Given the description of an element on the screen output the (x, y) to click on. 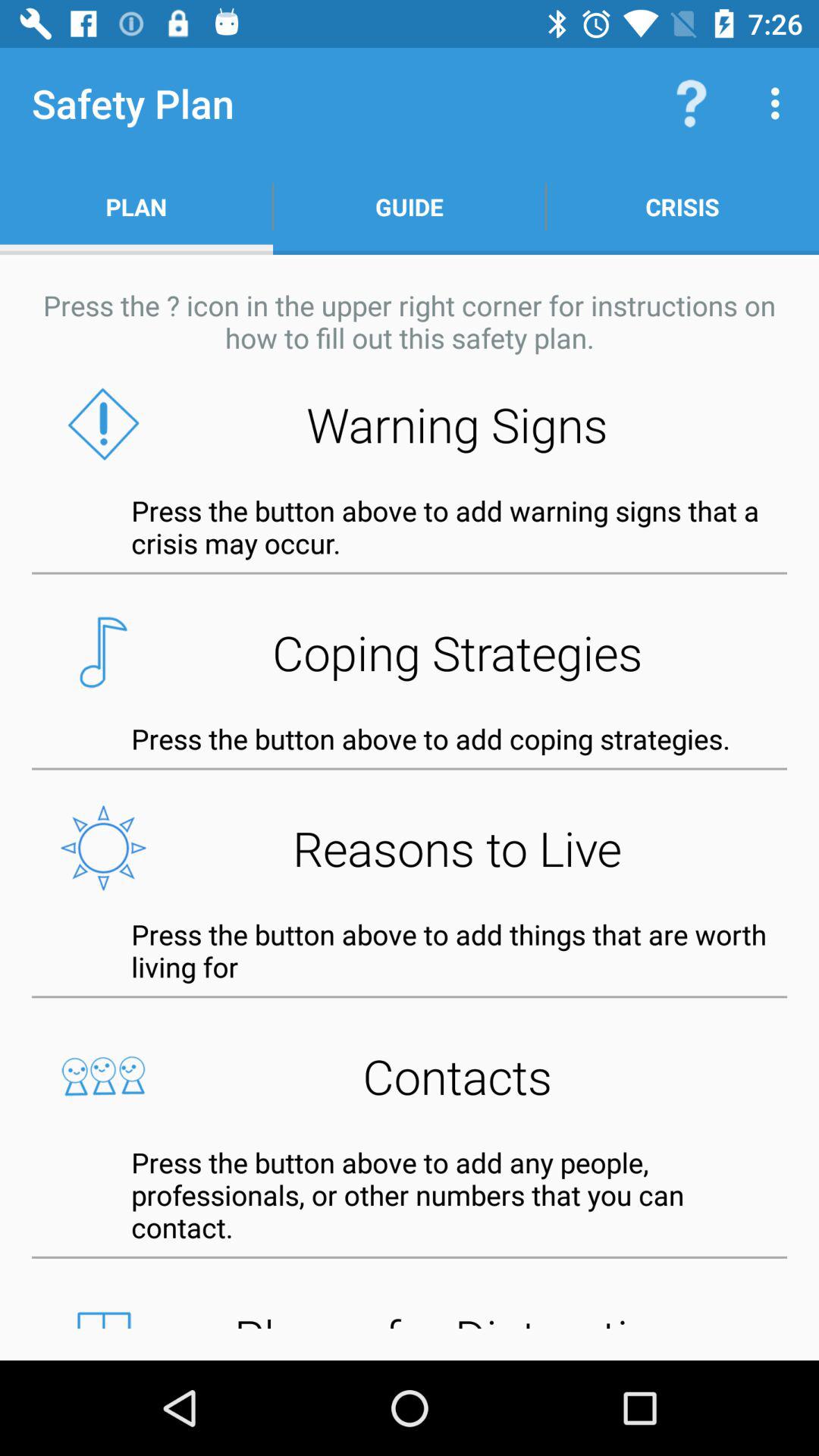
click the app to the right of the plan (409, 206)
